Given the description of an element on the screen output the (x, y) to click on. 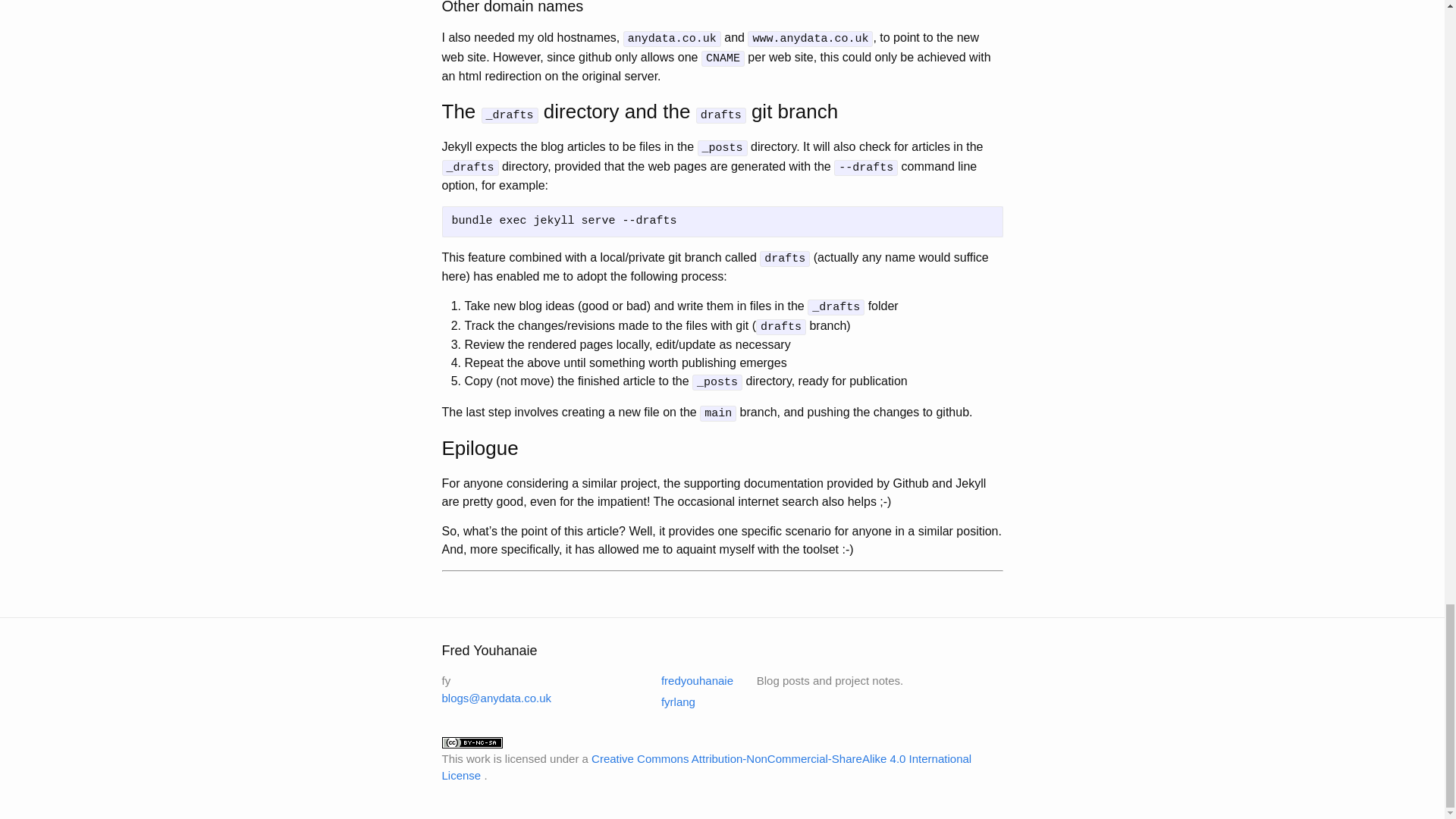
fredyouhanaie (687, 680)
fyrlang (668, 701)
